Given the description of an element on the screen output the (x, y) to click on. 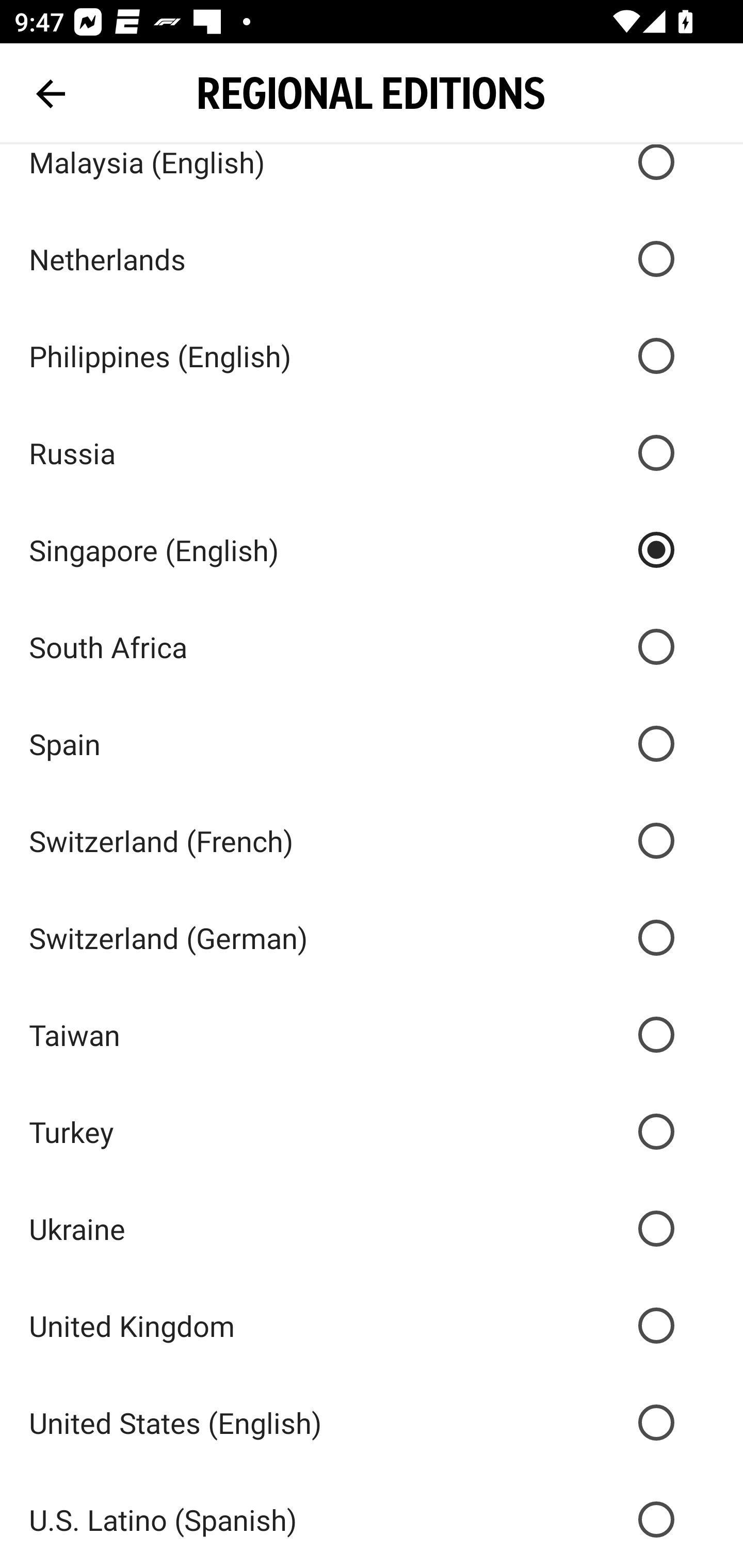
Back (50, 93)
Malaysia (English) (371, 177)
Netherlands (371, 258)
Philippines (English) (371, 355)
Russia (371, 452)
Singapore (English) (371, 549)
South Africa (371, 646)
Spain (371, 742)
Switzerland (French) (371, 840)
Switzerland (German) (371, 937)
Taiwan (371, 1034)
Turkey (371, 1131)
Ukraine (371, 1228)
United Kingdom (371, 1324)
United States (English) (371, 1421)
U.S. Latino (Spanish) (371, 1519)
